Given the description of an element on the screen output the (x, y) to click on. 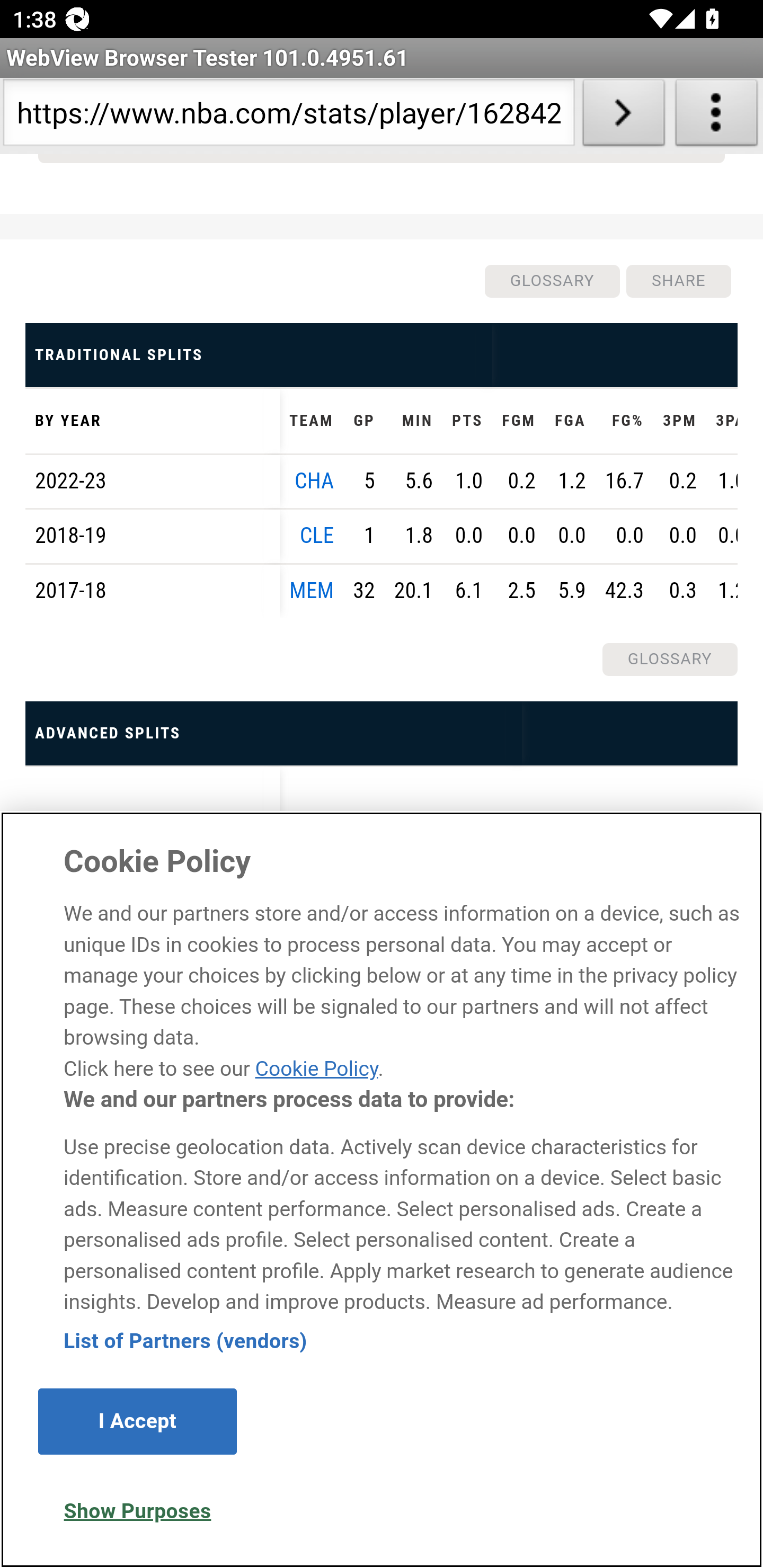
https://www.nba.com/stats/player/1628424 (288, 115)
Load URL (623, 115)
About WebView (716, 115)
GLOSSARY (550, 281)
SHARE (677, 281)
BY YEAR (152, 421)
TEAM (312, 421)
GP (363, 421)
MIN (413, 421)
PTS (466, 421)
FGM (518, 421)
FGA (569, 421)
FG% (624, 421)
3PM (680, 421)
CHA (314, 481)
CLE (317, 536)
MEM (312, 591)
GLOSSARY (669, 659)
Cookie Policy (316, 1068)
List of Partners (vendors) (185, 1341)
I Accept (137, 1422)
Show Purposes (137, 1512)
